Given the description of an element on the screen output the (x, y) to click on. 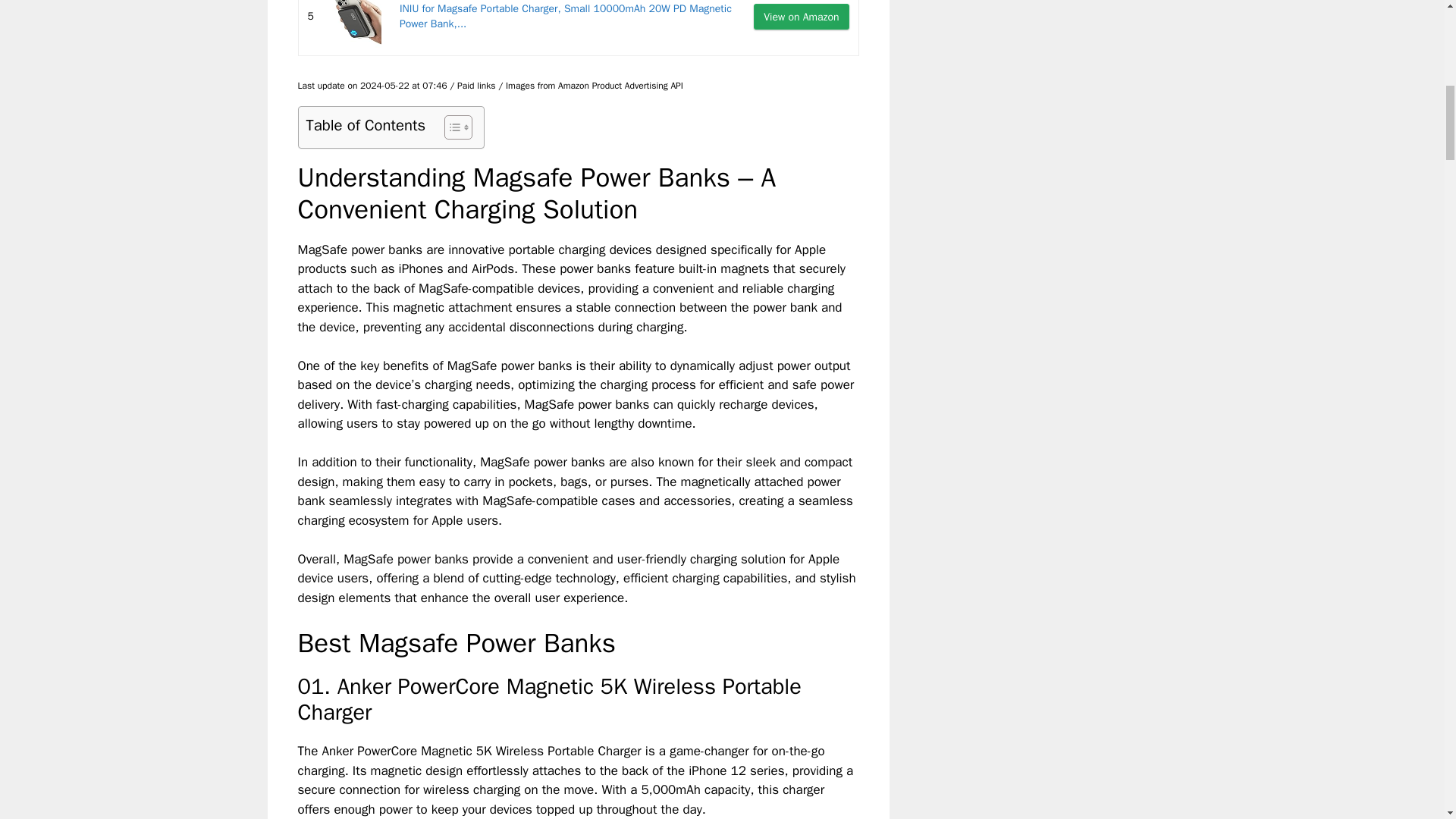
View on Amazon (801, 16)
